Given the description of an element on the screen output the (x, y) to click on. 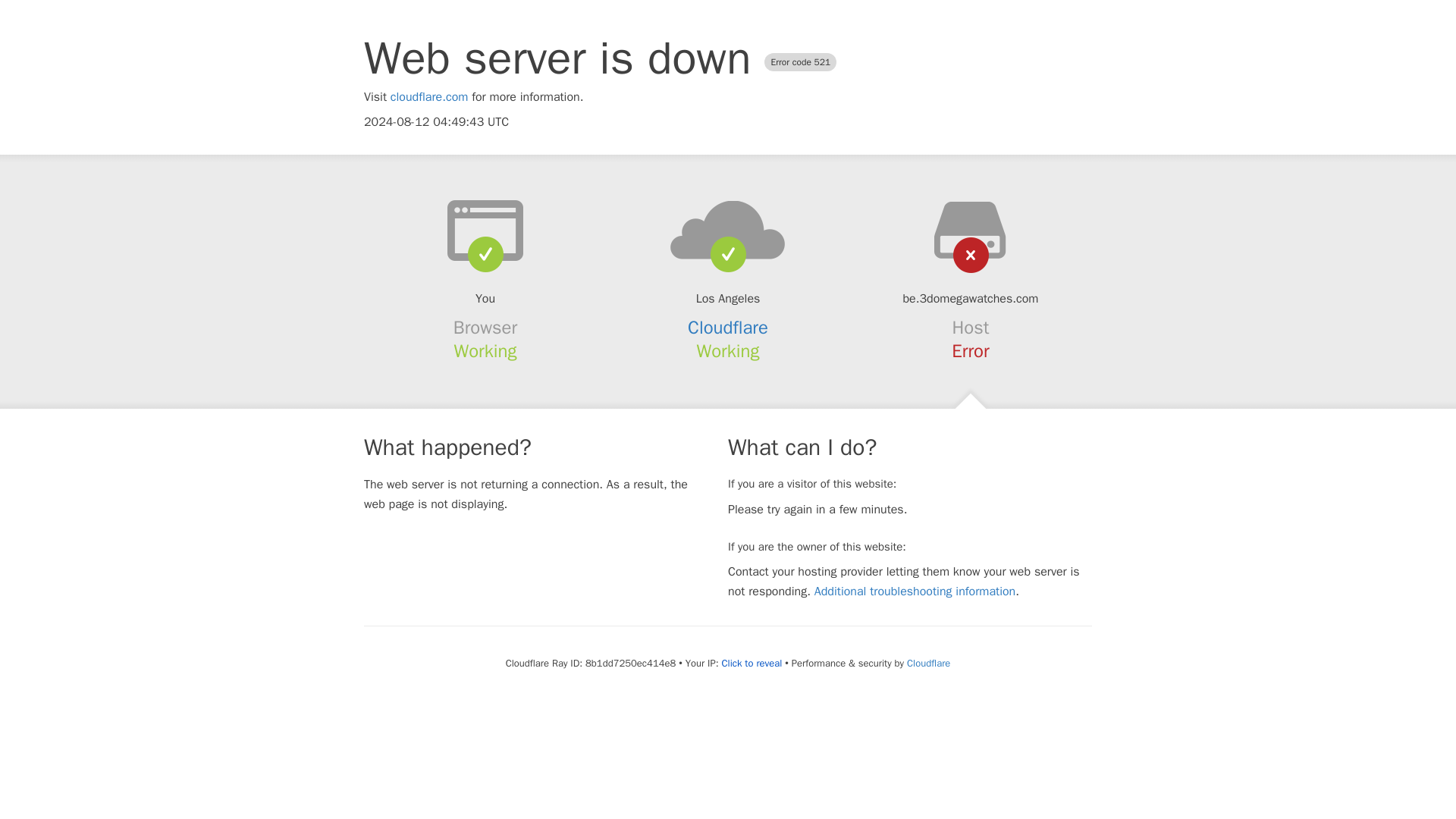
cloudflare.com (429, 96)
Cloudflare (727, 327)
Click to reveal (750, 663)
Cloudflare (928, 662)
Additional troubleshooting information (913, 590)
